Given the description of an element on the screen output the (x, y) to click on. 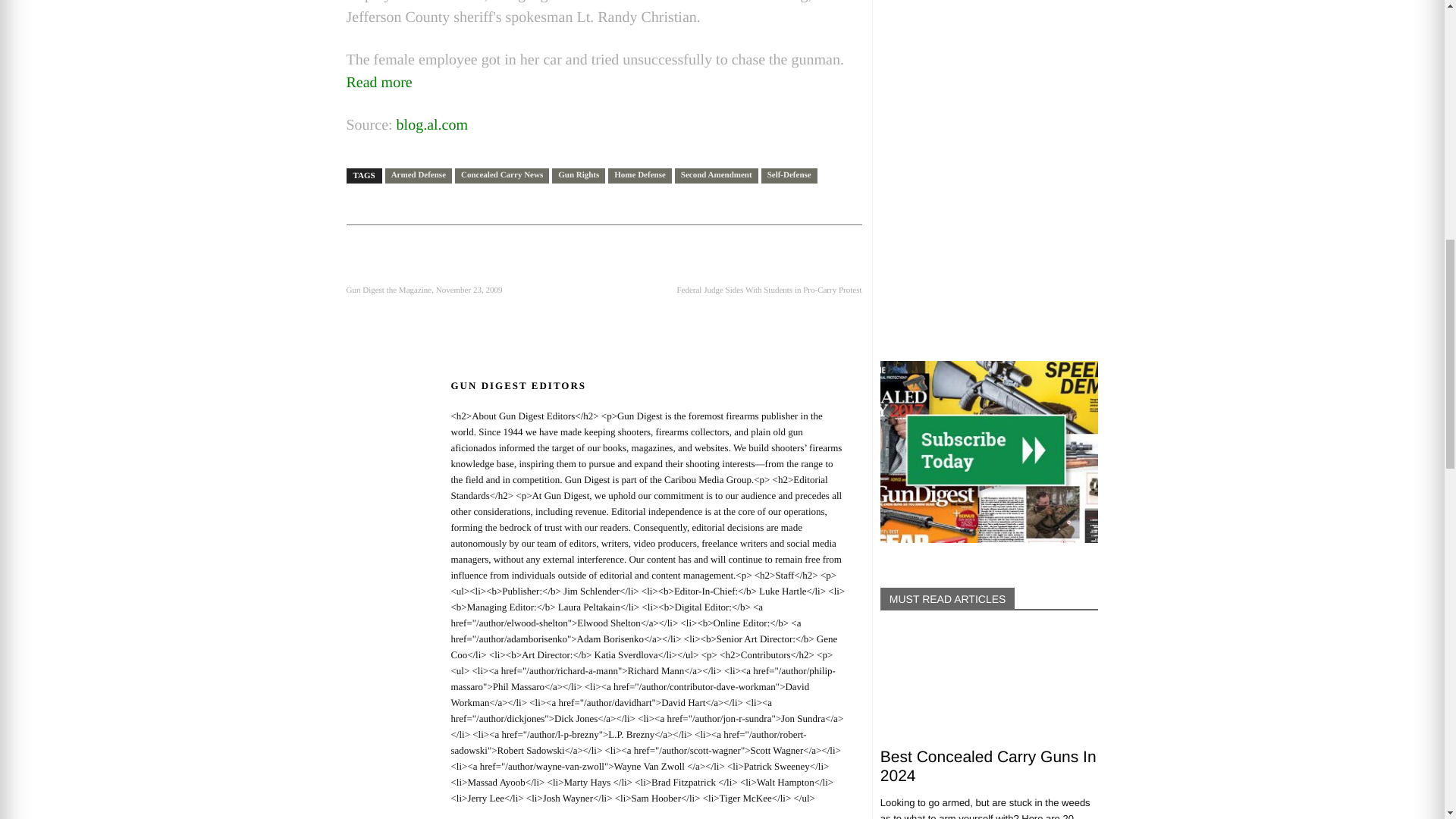
Best Concealed Carry Guns In 2024 (989, 683)
